Given the description of an element on the screen output the (x, y) to click on. 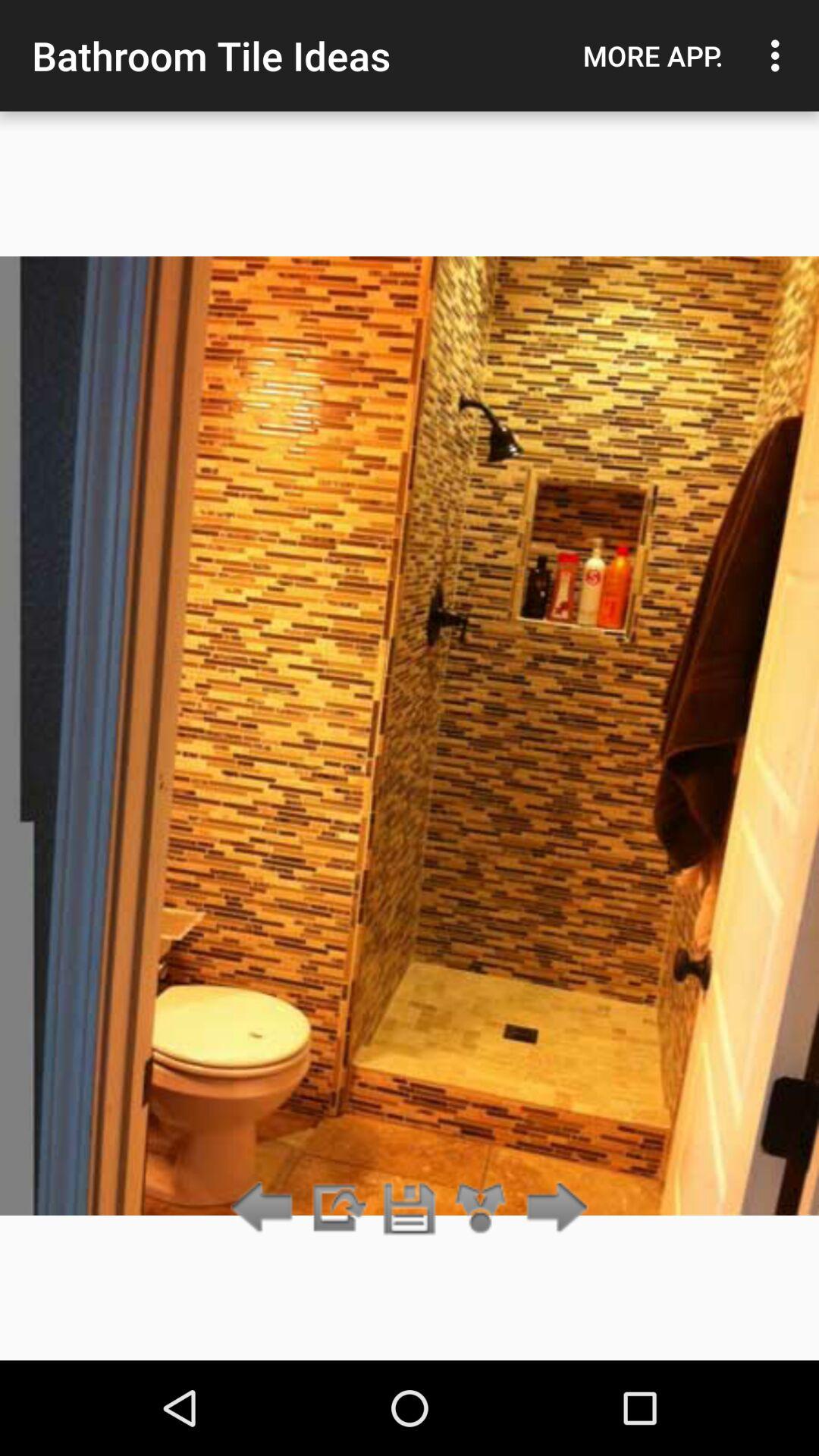
share the picture (480, 1208)
